Given the description of an element on the screen output the (x, y) to click on. 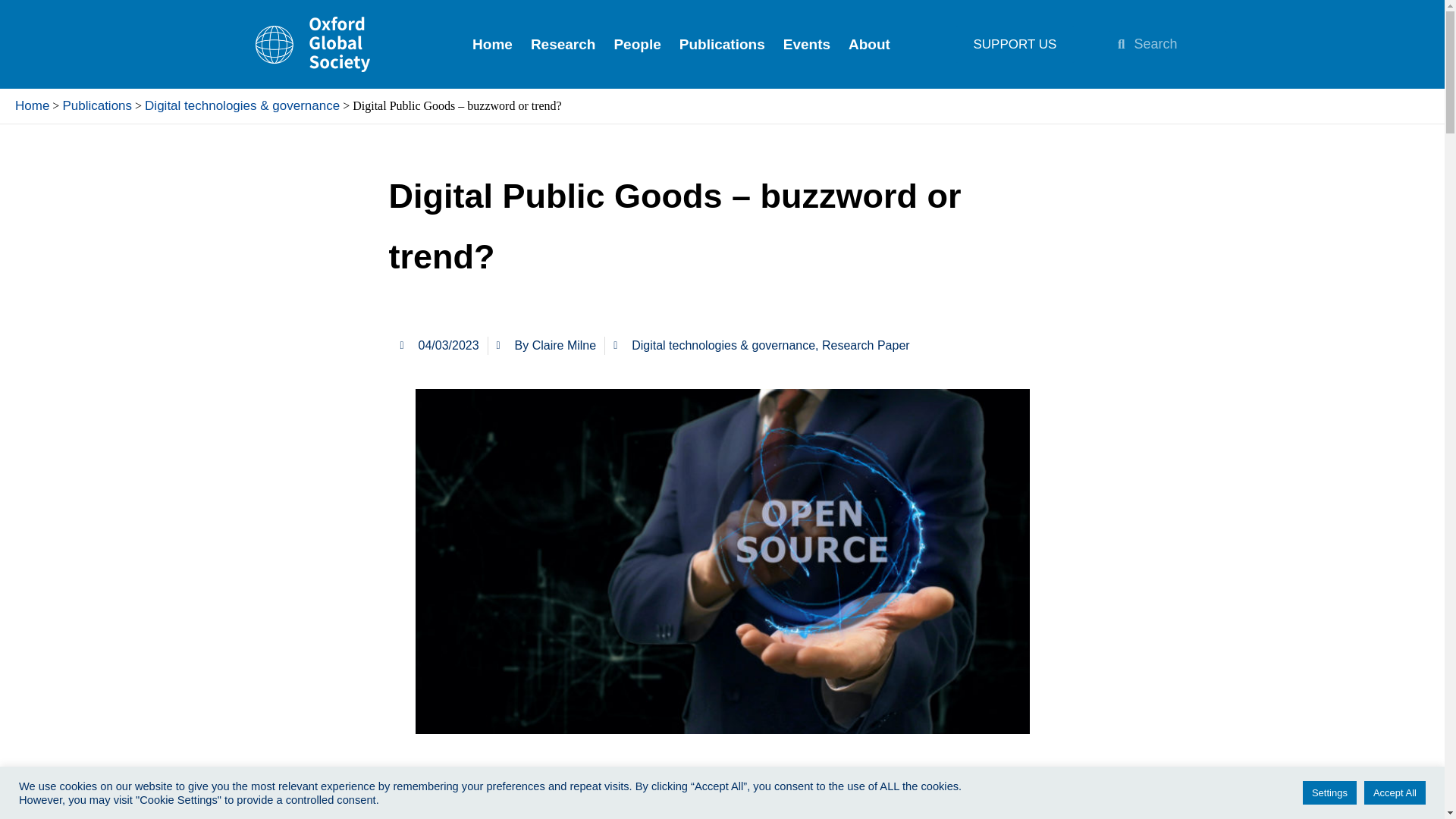
Research (563, 44)
SUPPORT US (1015, 44)
Search (1174, 43)
Home (31, 105)
Events (807, 44)
Research Paper (866, 345)
Publications (97, 105)
Home (492, 44)
About (869, 44)
Publications (721, 44)
